Given the description of an element on the screen output the (x, y) to click on. 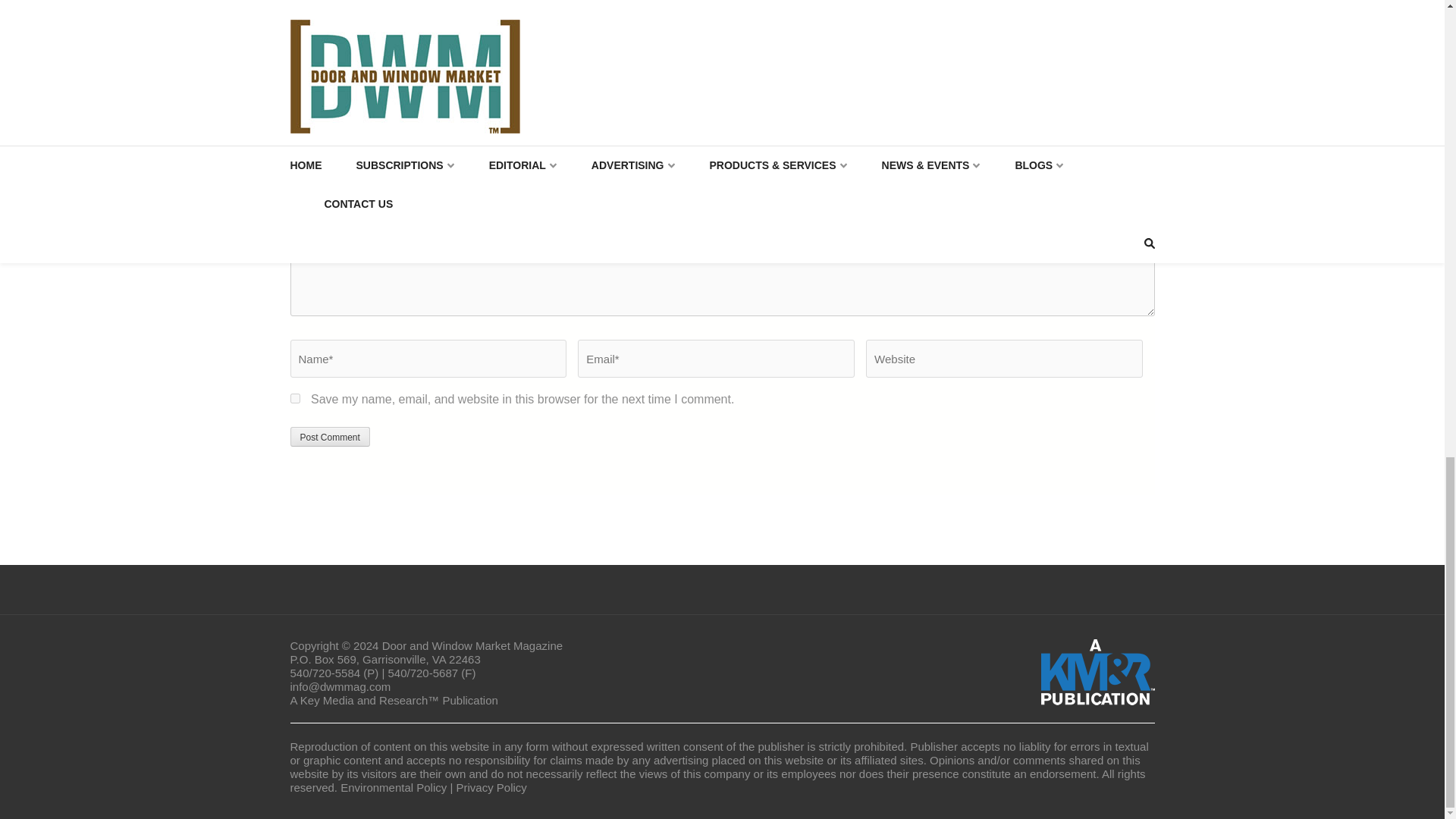
yes (294, 398)
Post Comment (329, 436)
